Given the description of an element on the screen output the (x, y) to click on. 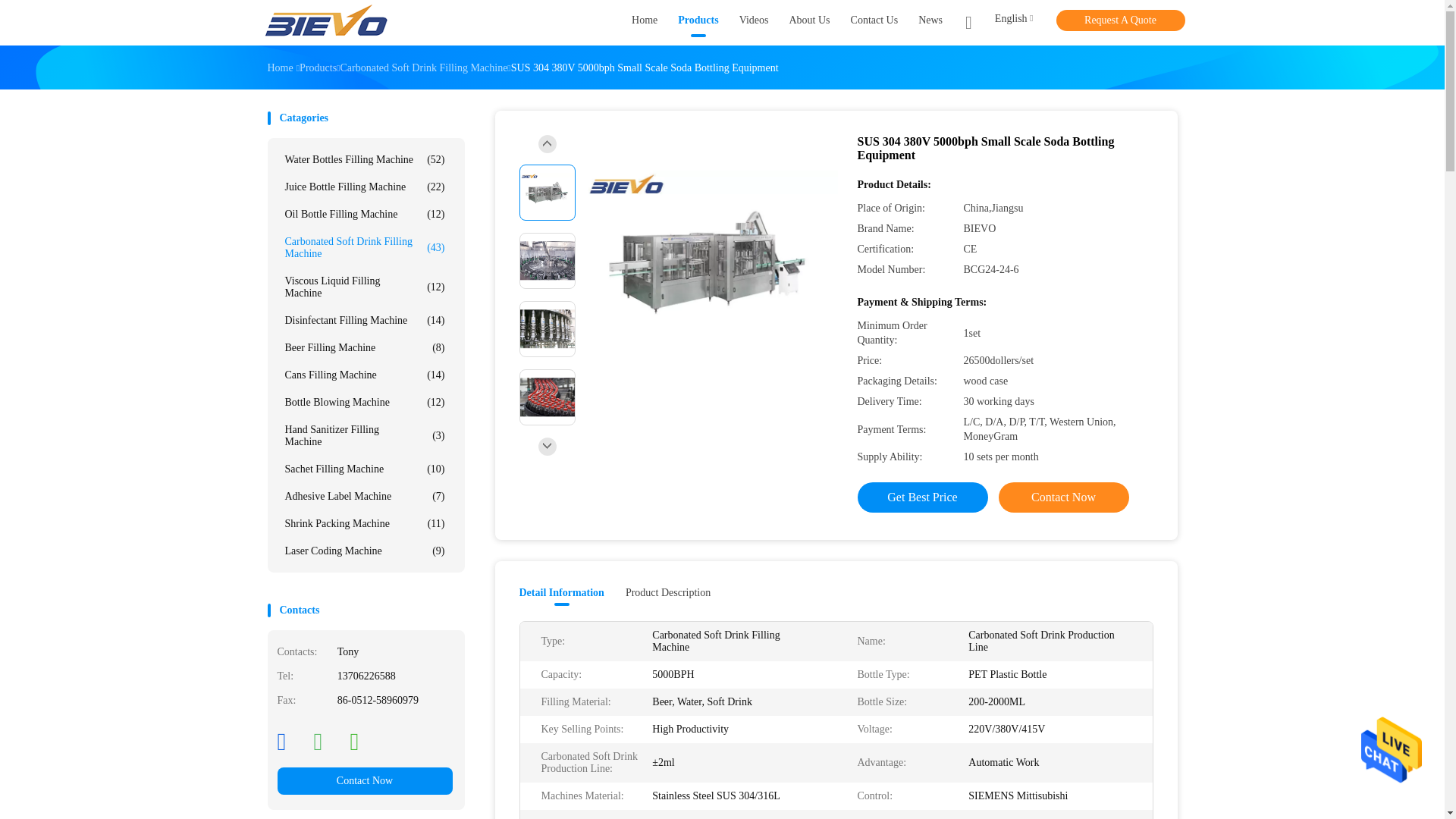
About Us (809, 22)
Home (644, 22)
Videos (753, 22)
Products (697, 22)
Request A Quote (1120, 20)
Home (279, 67)
Zhangjiagang City Bievo Machinery Co., Ltd. (326, 22)
News (930, 22)
Contact Us (874, 22)
